Given the description of an element on the screen output the (x, y) to click on. 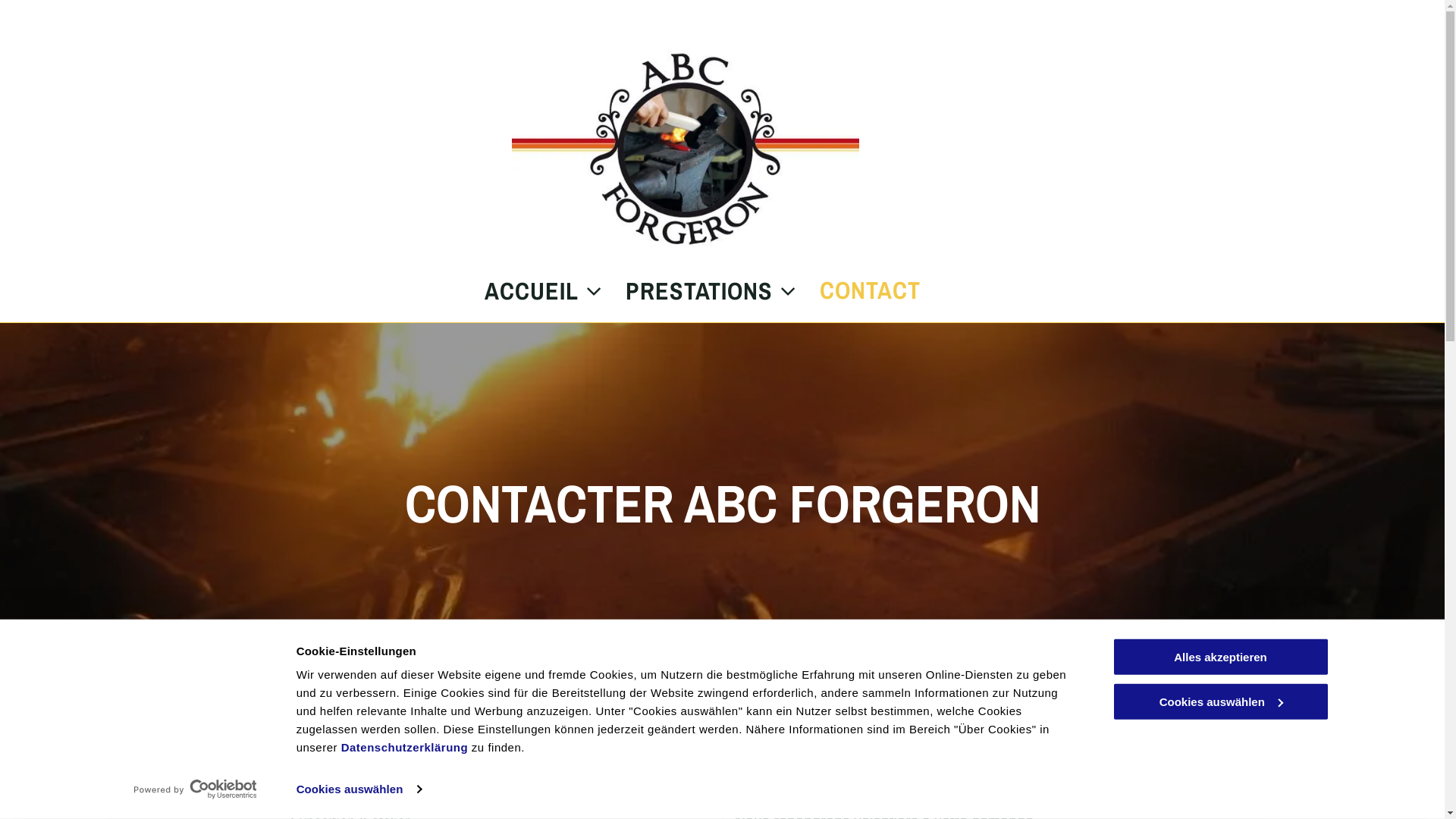
ACCUEIL Element type: text (531, 291)
Alles akzeptieren Element type: text (1219, 656)
CONTACT Element type: text (858, 291)
PRESTATIONS Element type: text (699, 291)
